Given the description of an element on the screen output the (x, y) to click on. 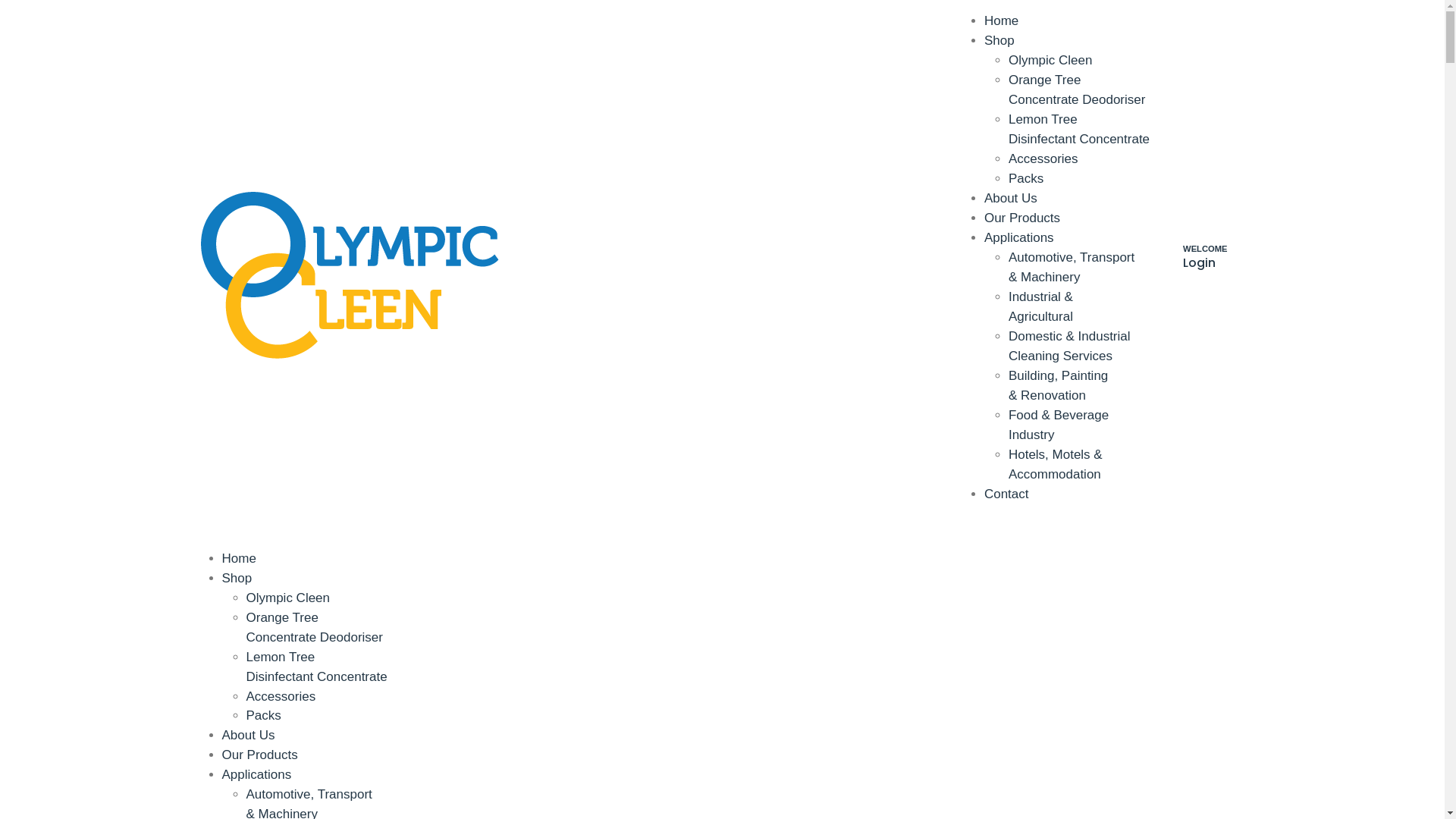
WELCOME
Login Element type: text (1200, 263)
Building, Painting
& Renovation Element type: text (1057, 385)
Shop Element type: text (999, 40)
Packs Element type: text (262, 715)
Industrial &
Agricultural Element type: text (1040, 306)
Contact Element type: text (1006, 493)
Lemon Tree
Disinfectant Concentrate Element type: text (315, 666)
About Us Element type: text (1010, 198)
Applications Element type: text (256, 774)
Packs Element type: text (1025, 178)
About Us Element type: text (247, 735)
Shop Element type: text (236, 578)
Olympic Cleen Element type: text (1050, 60)
Lemon Tree
Disinfectant Concentrate Element type: text (1078, 129)
Applications Element type: text (1019, 237)
Our Products Element type: text (1022, 217)
Orange Tree
Concentrate Deodoriser Element type: text (1076, 89)
Home Element type: text (1001, 20)
Domestic & Industrial
Cleaning Services Element type: text (1069, 346)
Orange Tree
Concentrate Deodoriser Element type: text (313, 627)
Accessories Element type: text (280, 695)
Accessories Element type: text (1043, 158)
Hotels, Motels &
Accommodation Element type: text (1055, 464)
Home Element type: text (238, 558)
Our Products Element type: text (259, 754)
Automotive, Transport
& Machinery Element type: text (1071, 267)
Olympic Cleen Element type: text (287, 597)
Food & Beverage
Industry Element type: text (1058, 424)
Olympic Cleen - The Ultimate Concentrated Citrus Cleaner Element type: hover (348, 273)
